Given the description of an element on the screen output the (x, y) to click on. 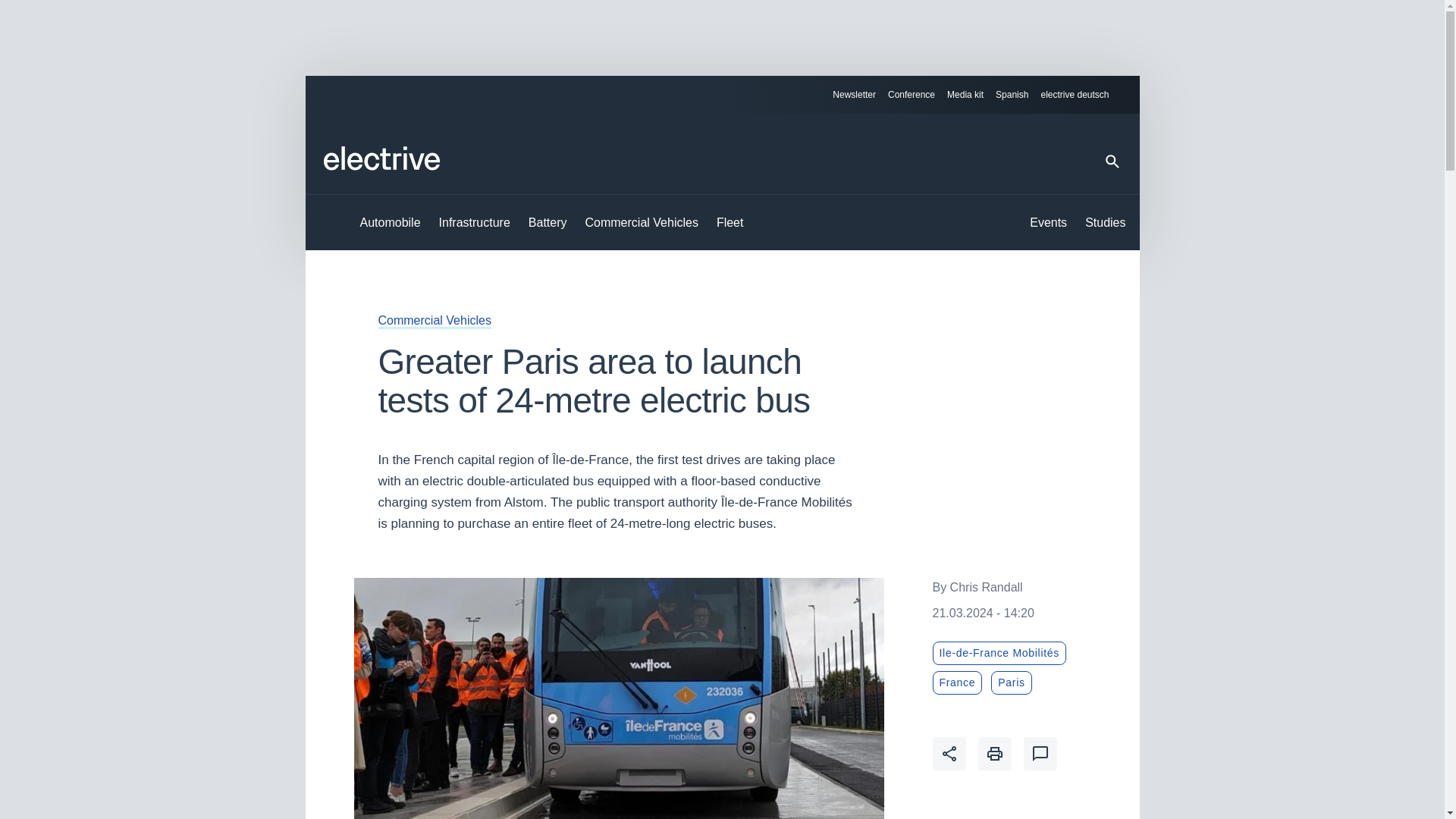
Teilen (949, 753)
Commercial Vehicles (433, 319)
Studies (1104, 223)
France (957, 682)
Commercial Vehicles (641, 223)
Infrastructure (475, 223)
Media kit (965, 95)
Newsletter (854, 95)
Drucken (994, 753)
Conference (911, 95)
